Given the description of an element on the screen output the (x, y) to click on. 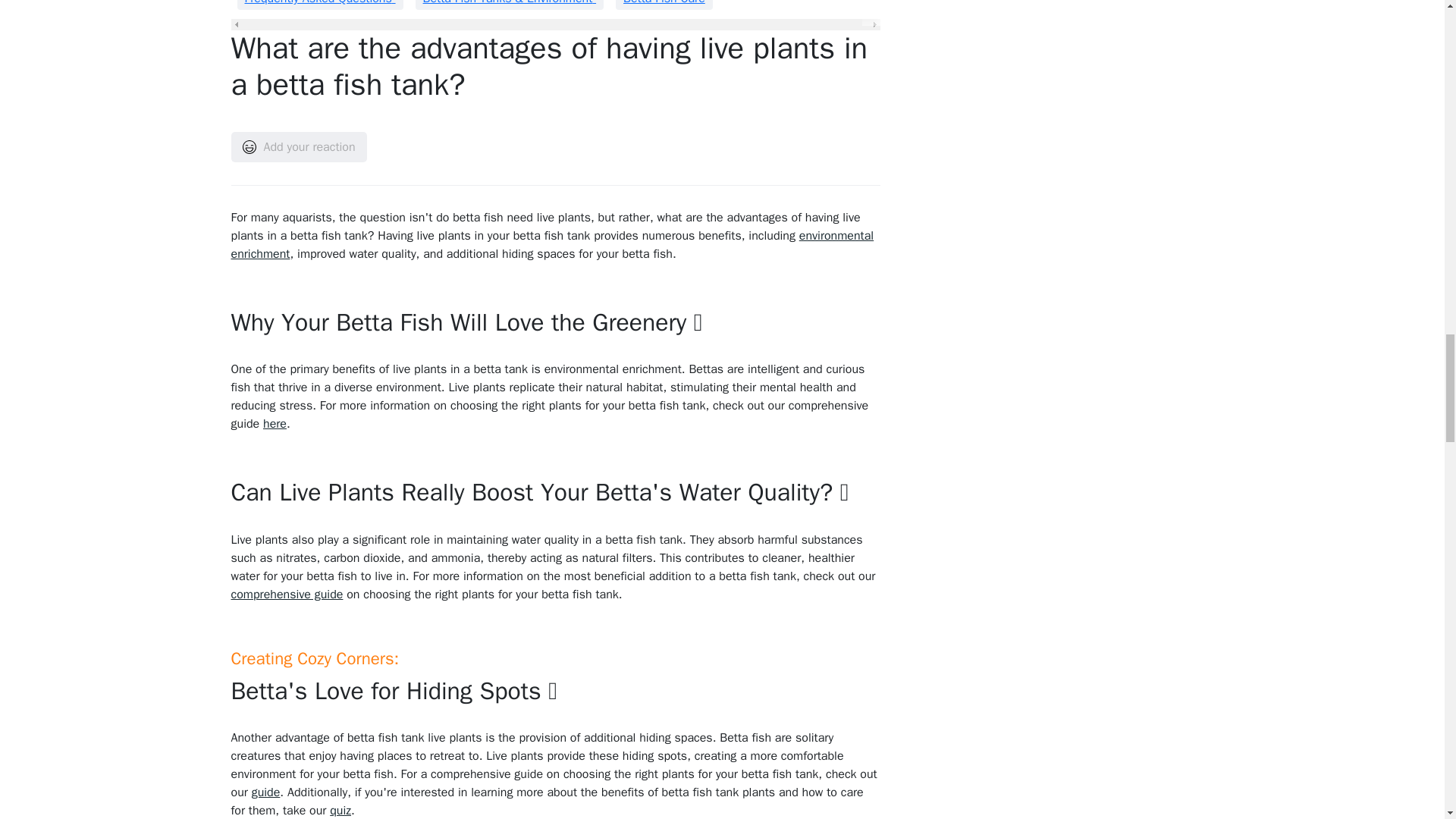
What is the Most Beneficial Addition to a Betta Fish Tank (551, 244)
What is the Most Beneficial Addition to a Betta Fish Tank? (286, 594)
Betta Fish Tank Plants Quiz: Importance, Selection, and Care (340, 810)
